Given the description of an element on the screen output the (x, y) to click on. 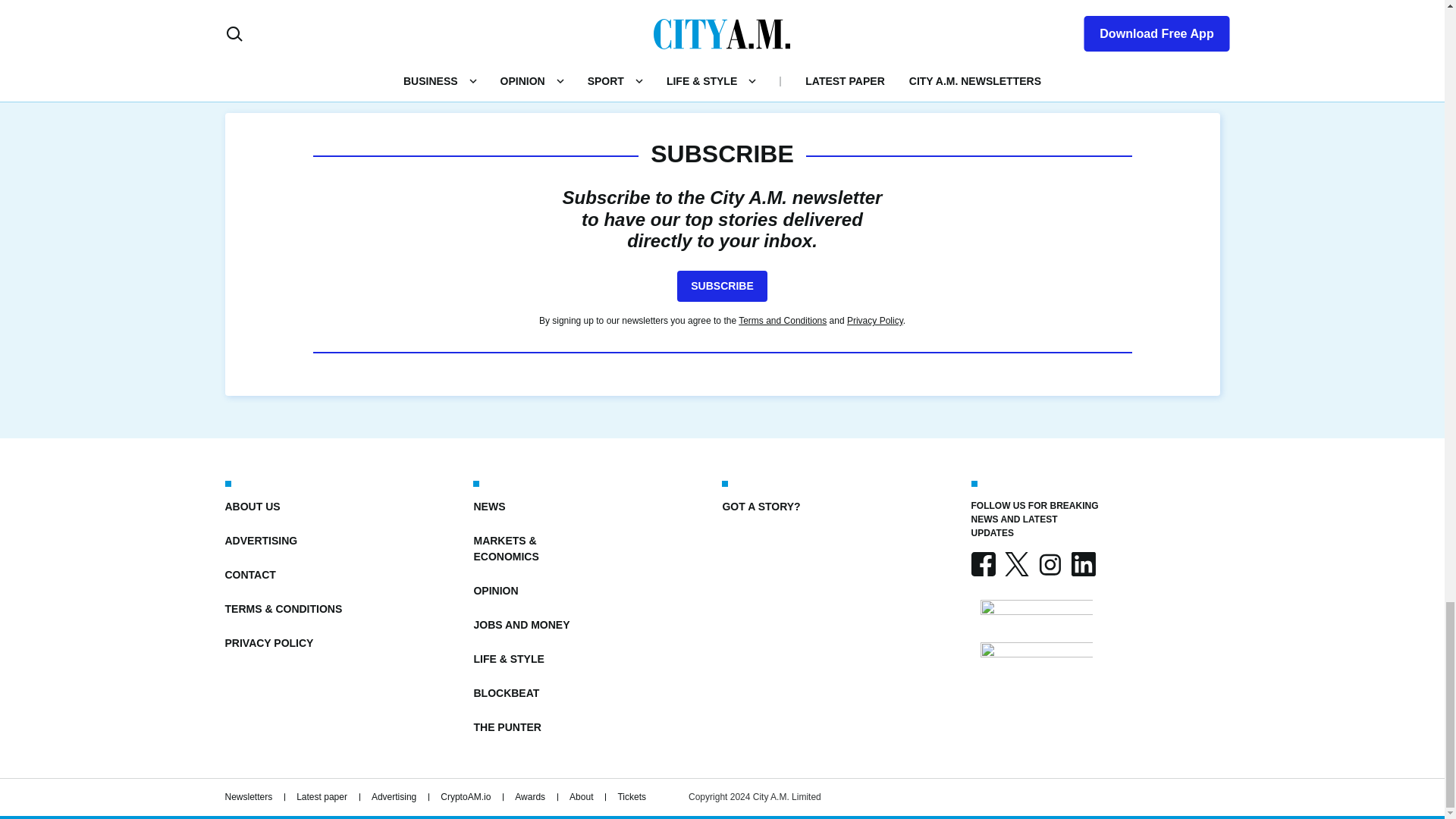
LINKEDIN (1082, 564)
FACEBOOK (982, 564)
INSTAGRAM (1048, 564)
X (1015, 564)
